Given the description of an element on the screen output the (x, y) to click on. 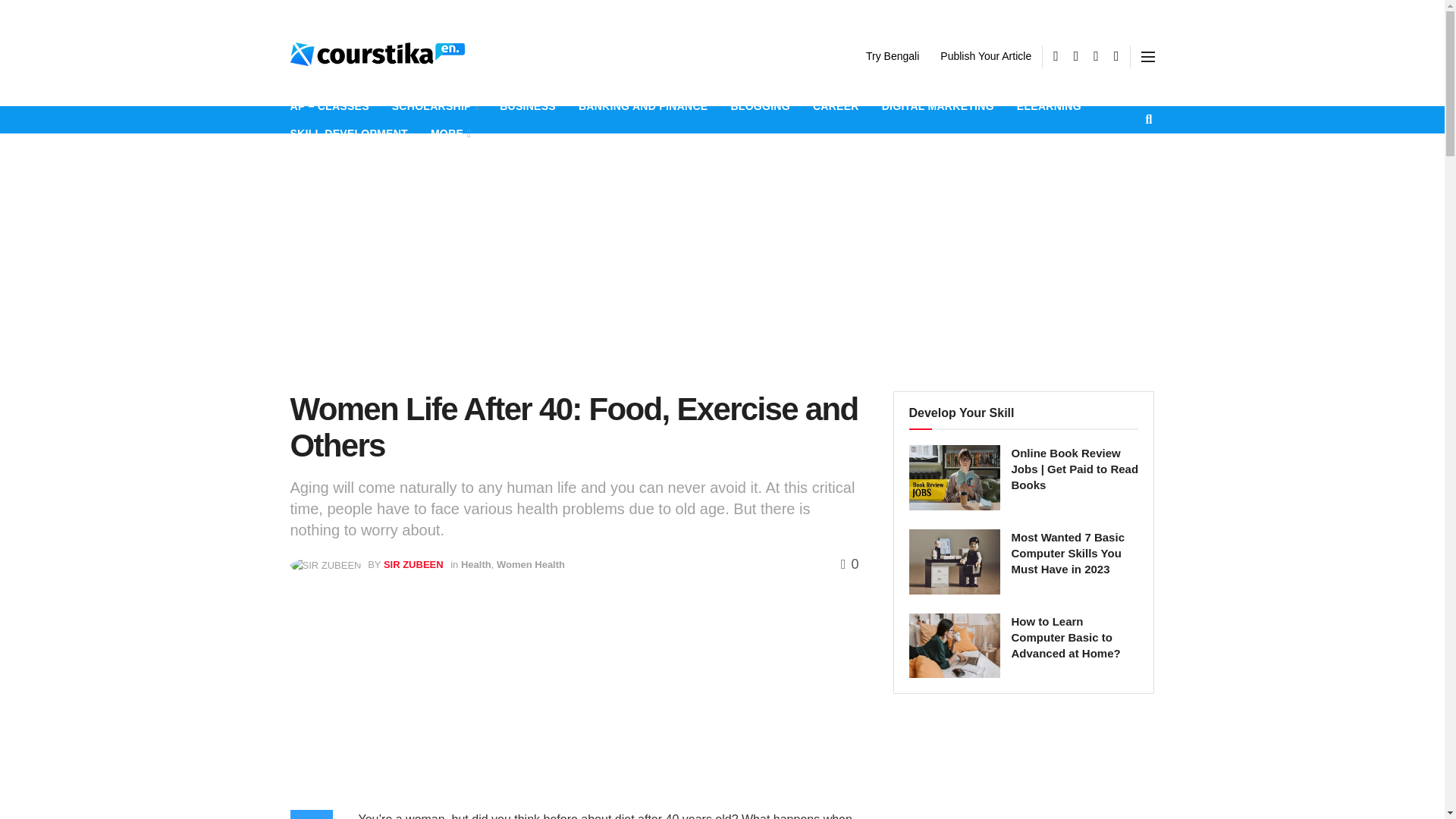
Publish Your Article (985, 56)
Advertisement (574, 703)
Try Bengali (892, 56)
CAREER (835, 106)
ELEARNING (1048, 106)
Advertisement (1023, 771)
SKILL DEVELOPMENT (348, 133)
MORE (449, 133)
BUSINESS (527, 106)
BANKING AND FINANCE (642, 106)
DIGITAL MARKETING (938, 106)
BLOGGING (759, 106)
SCHOLARSHIP (434, 106)
